Given the description of an element on the screen output the (x, y) to click on. 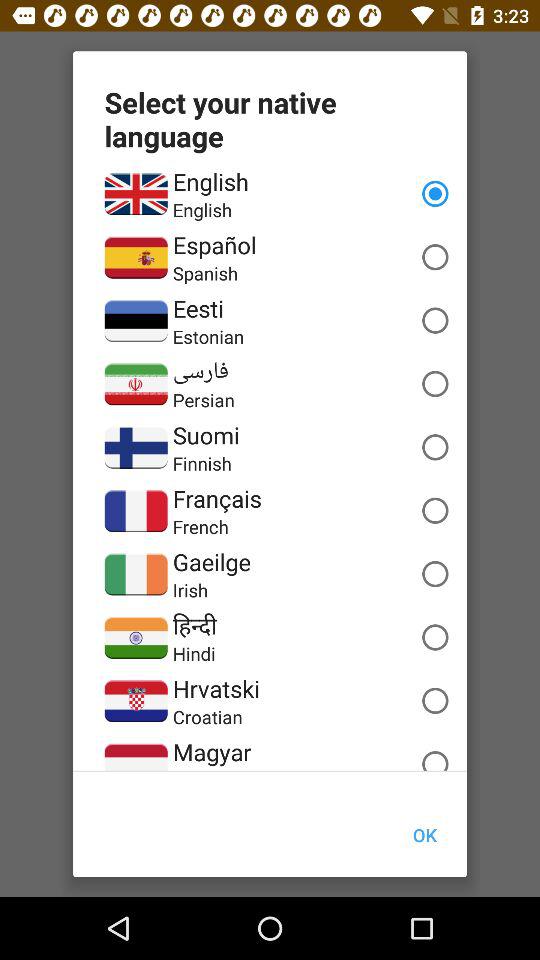
turn off the item above the french icon (216, 498)
